Given the description of an element on the screen output the (x, y) to click on. 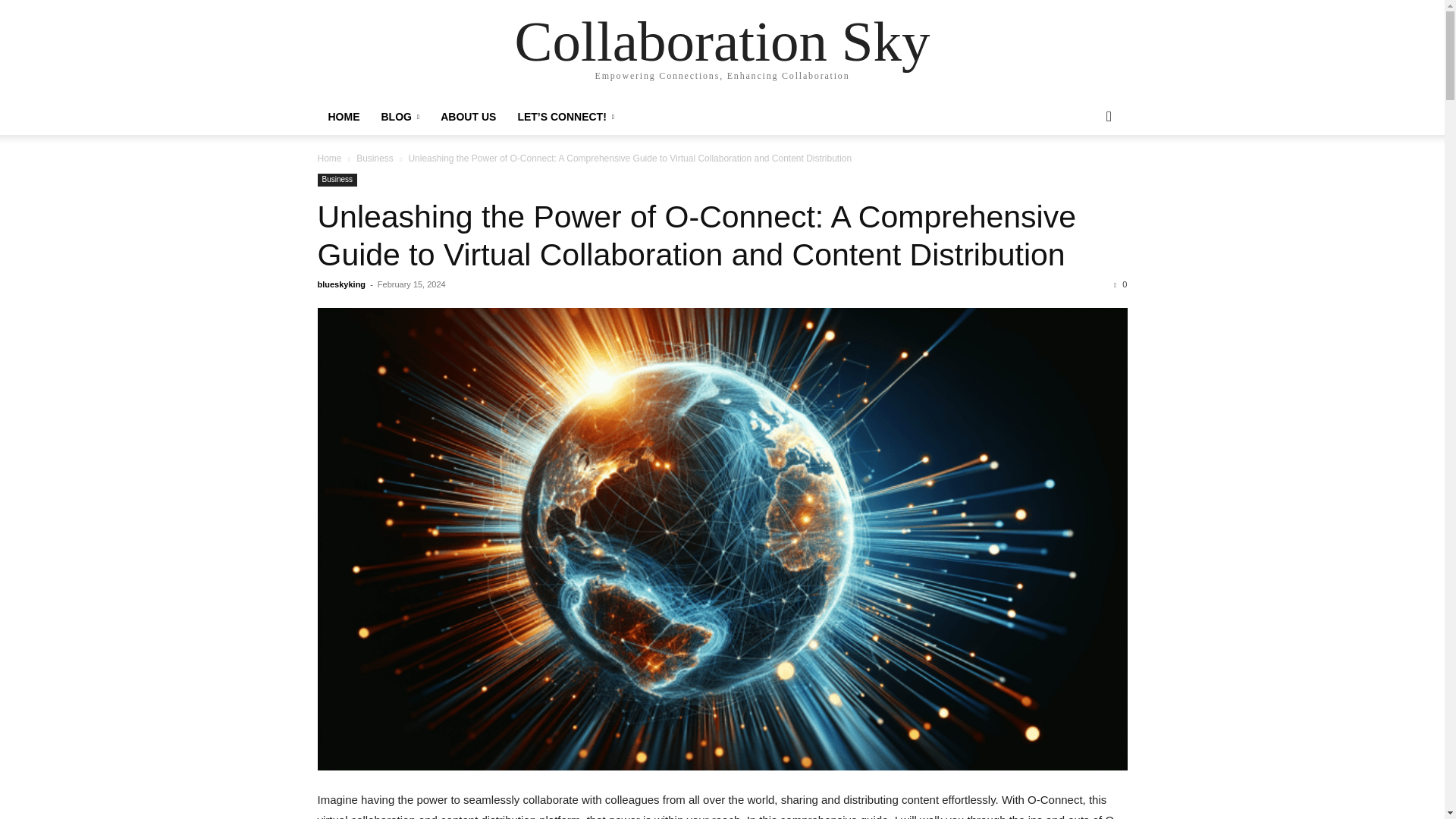
Search (1085, 177)
Business (336, 179)
Home (328, 158)
View all posts in Business (374, 158)
blueskyking (341, 284)
HOME (343, 116)
Collaboration Sky (722, 41)
